Given the description of an element on the screen output the (x, y) to click on. 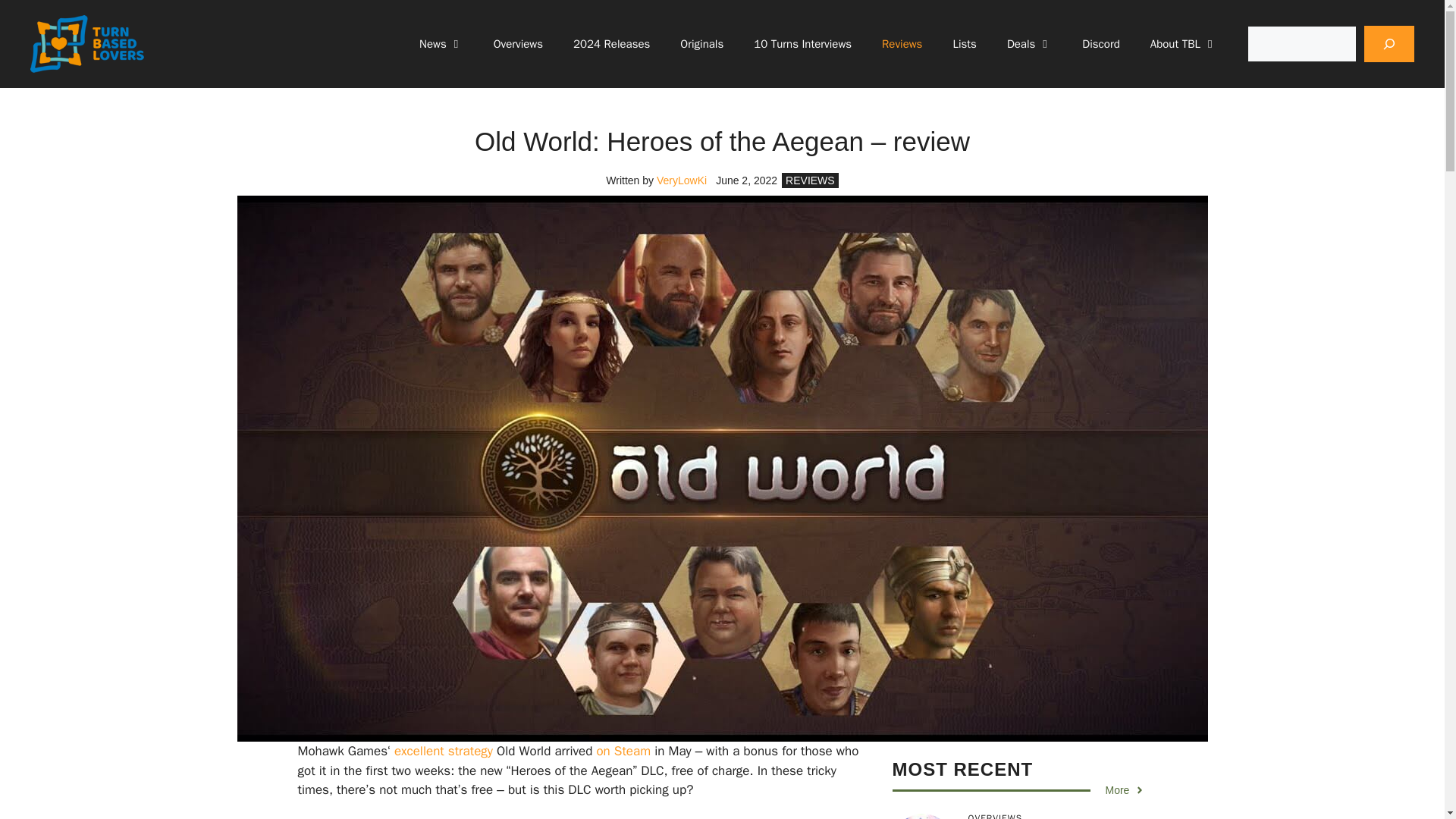
More (1125, 790)
Overviews (518, 43)
News (441, 43)
Reviews (901, 43)
on Steam (622, 750)
10 Turns Interviews (802, 43)
2024 Releases (611, 43)
REVIEWS (809, 180)
Lists (964, 43)
Originals (701, 43)
VeryLowKi (681, 180)
About TBL (1183, 43)
excellent strategy (443, 750)
Discord (1100, 43)
Deals (1029, 43)
